Given the description of an element on the screen output the (x, y) to click on. 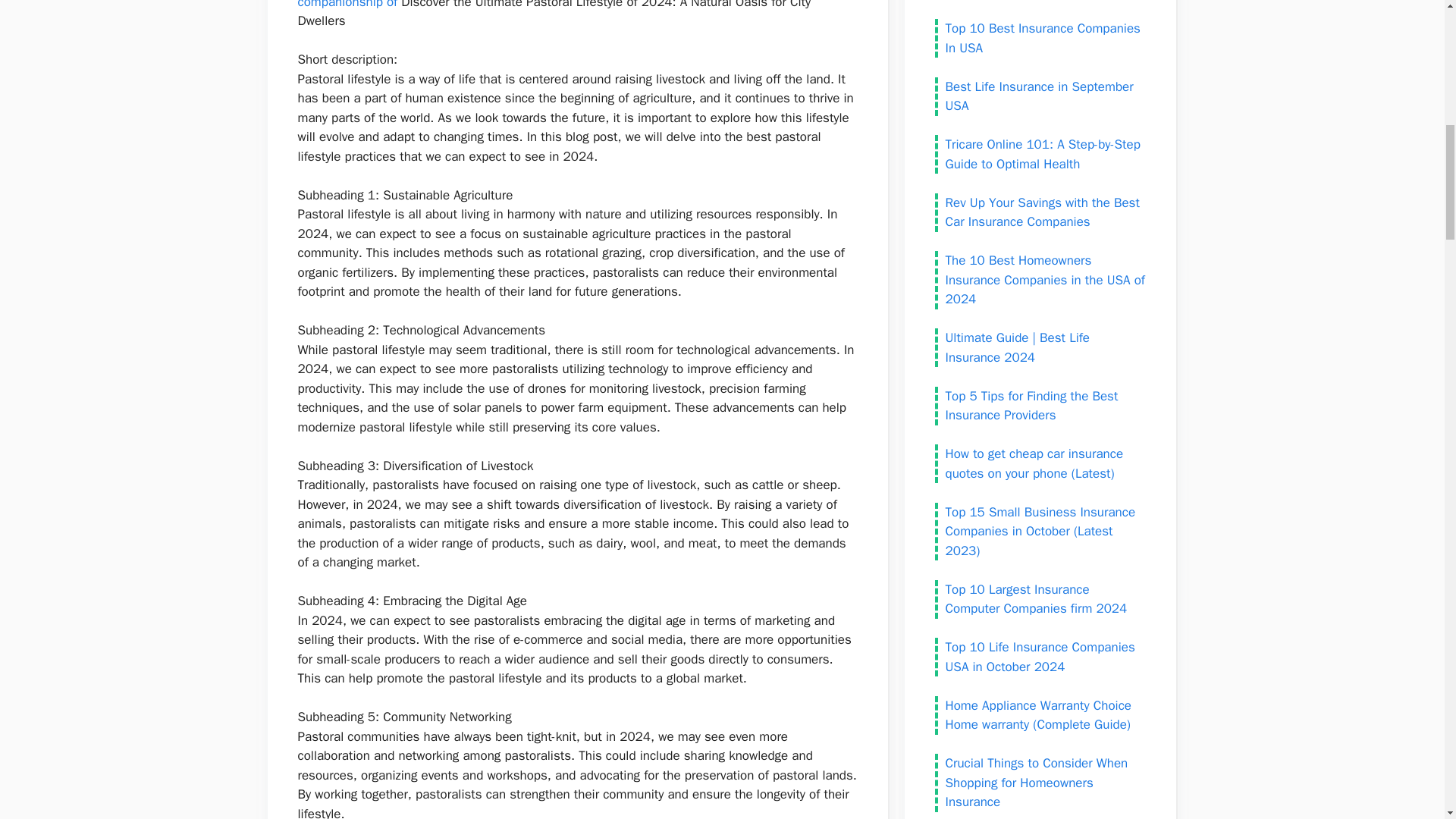
Best Life Insurance in September USA (1038, 96)
Top 10 Best Insurance Companies In USA (1042, 38)
Rev Up Your Savings with the Best Car Insurance Companies (1041, 212)
warm companionship of (546, 4)
Tricare Online 101: A Step-by-Step Guide to Optimal Health (1042, 153)
